Given the description of an element on the screen output the (x, y) to click on. 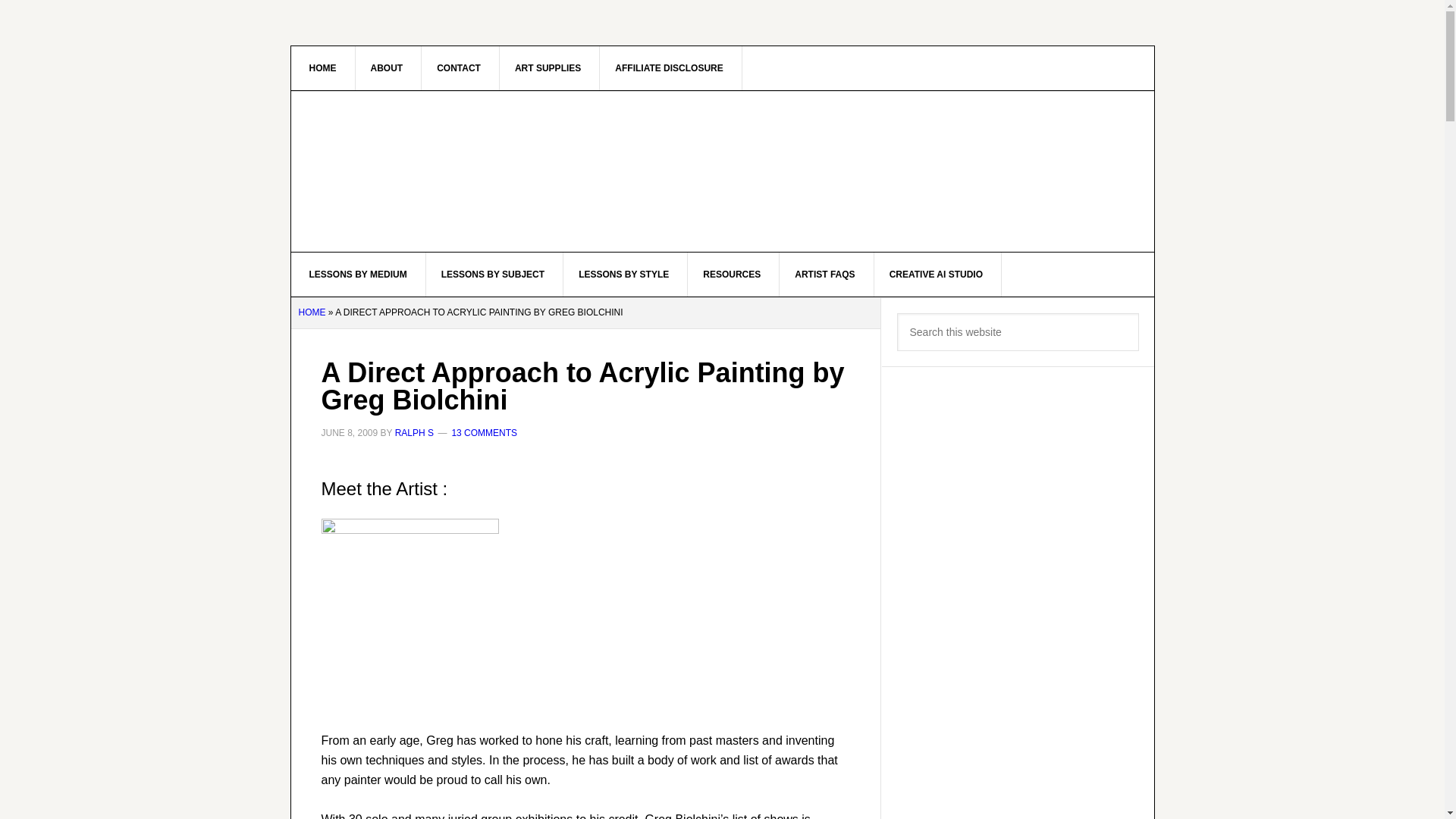
LESSONS BY MEDIUM (358, 274)
CONTACT (459, 67)
ABOUT (387, 67)
LESSONS BY SUBJECT (493, 274)
ART SUPPLIES (547, 67)
AFFILIATE DISCLOSURE (668, 67)
ART INSTRUCTION FOR BEGINNERS - ONLINE ART LESSONS (419, 171)
HOME (323, 67)
